Given the description of an element on the screen output the (x, y) to click on. 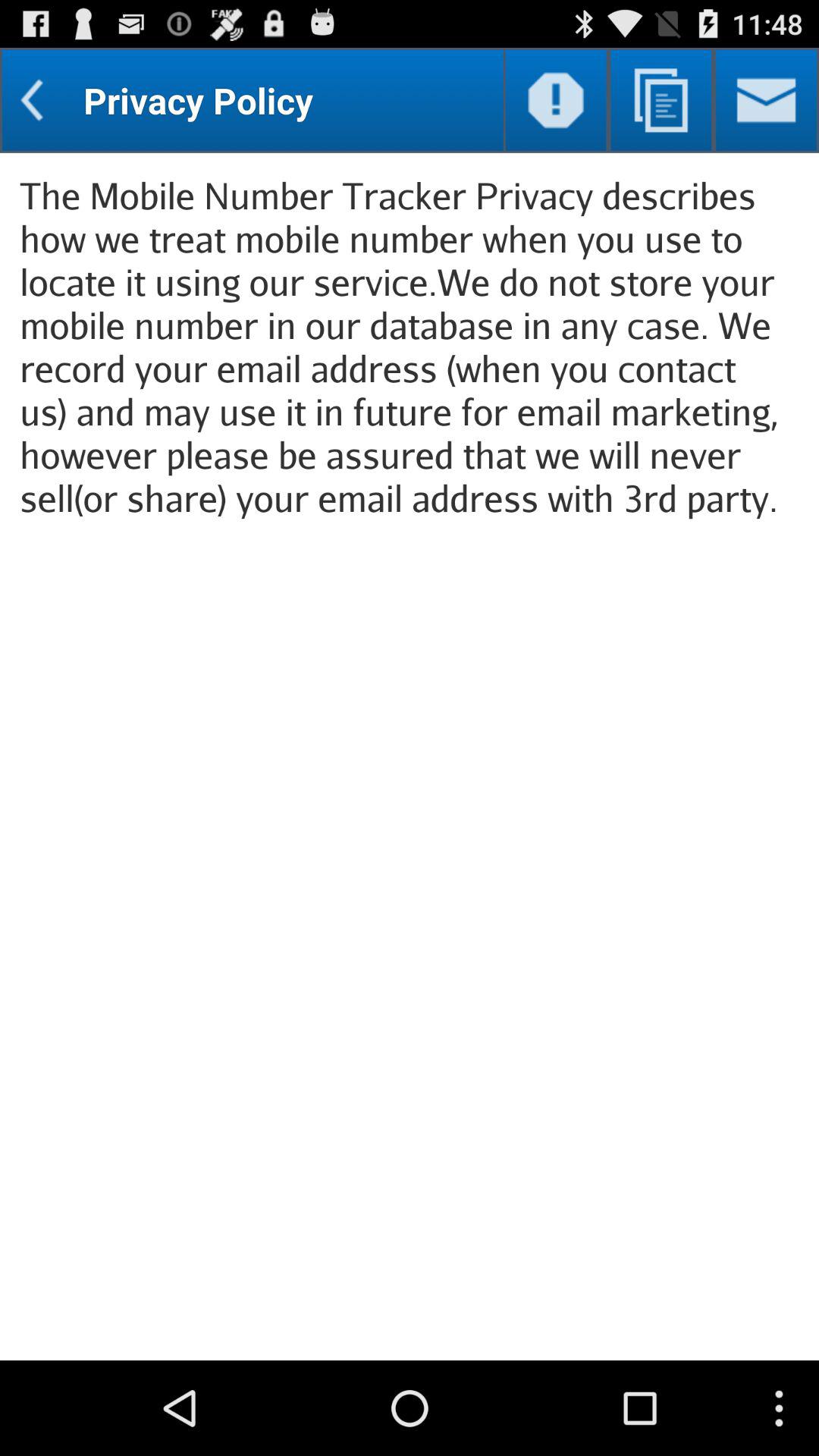
send email (766, 99)
